Given the description of an element on the screen output the (x, y) to click on. 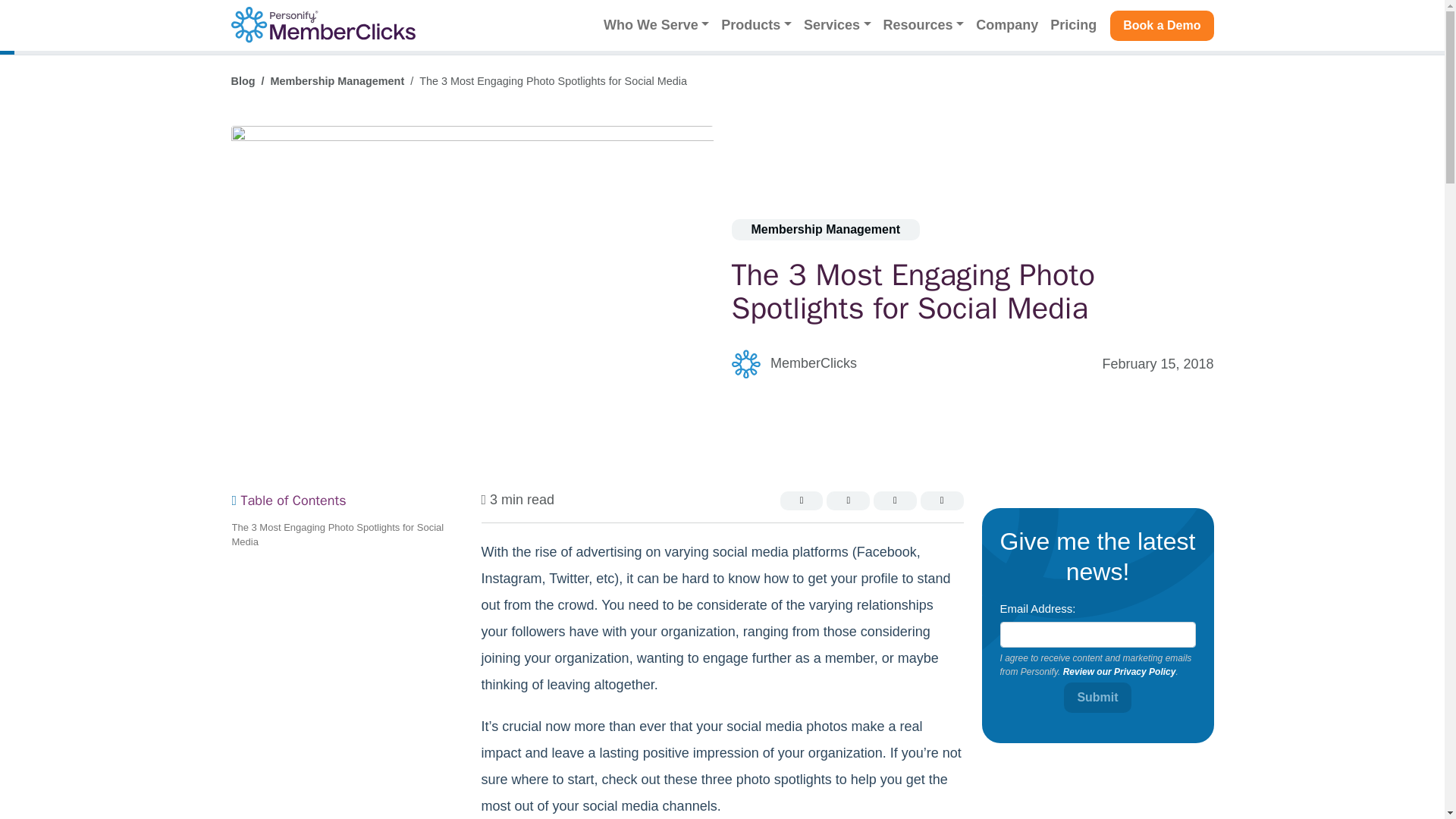
Book a Demo (1160, 25)
Company (1006, 25)
Products (755, 25)
Services (837, 25)
Who We Serve (655, 25)
Pricing (1072, 25)
Resources (924, 25)
